Given the description of an element on the screen output the (x, y) to click on. 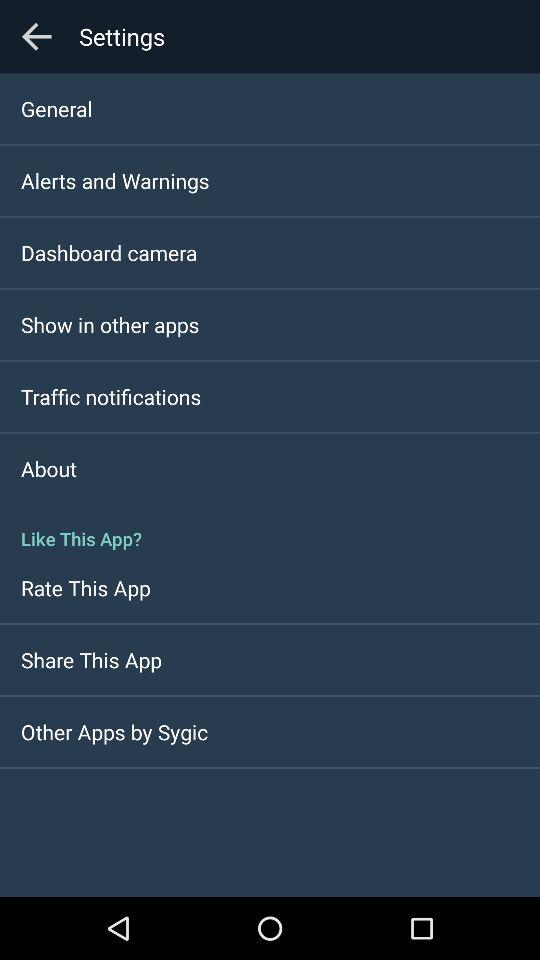
click the general (56, 108)
